Given the description of an element on the screen output the (x, y) to click on. 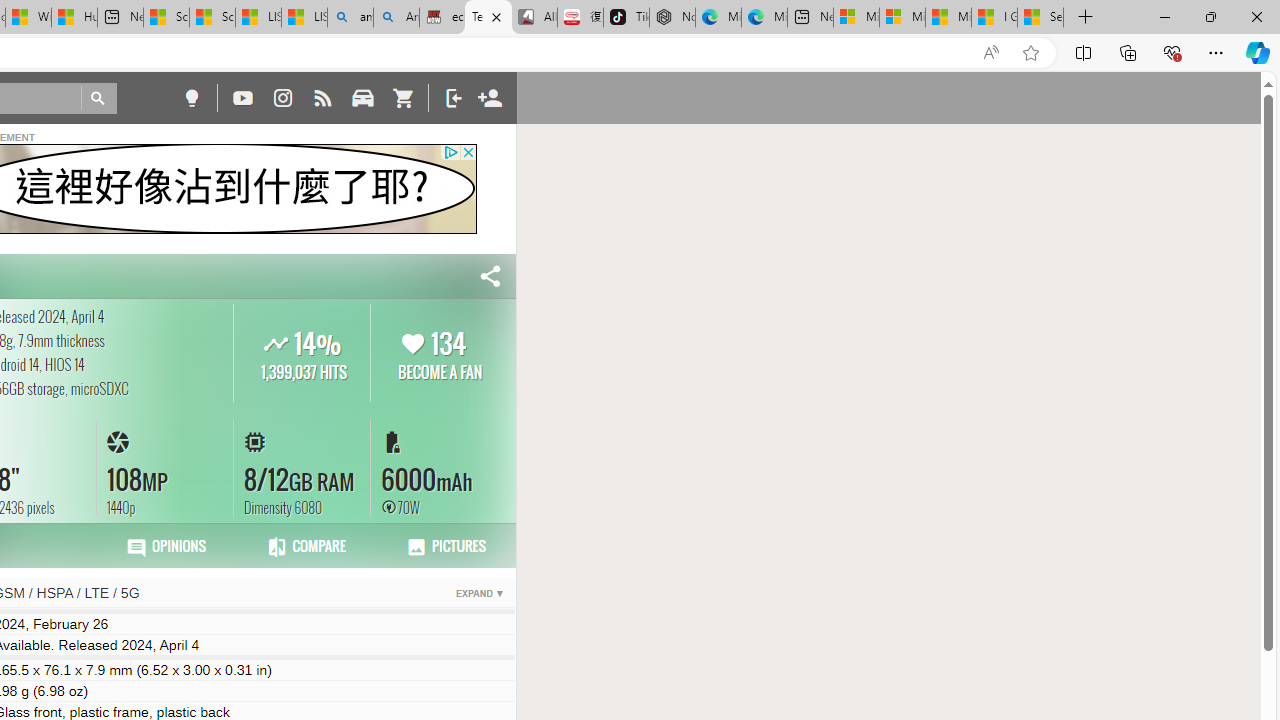
All Cubot phones (534, 17)
I Gained 20 Pounds of Muscle in 30 Days! | Watch (994, 17)
